Given the description of an element on the screen output the (x, y) to click on. 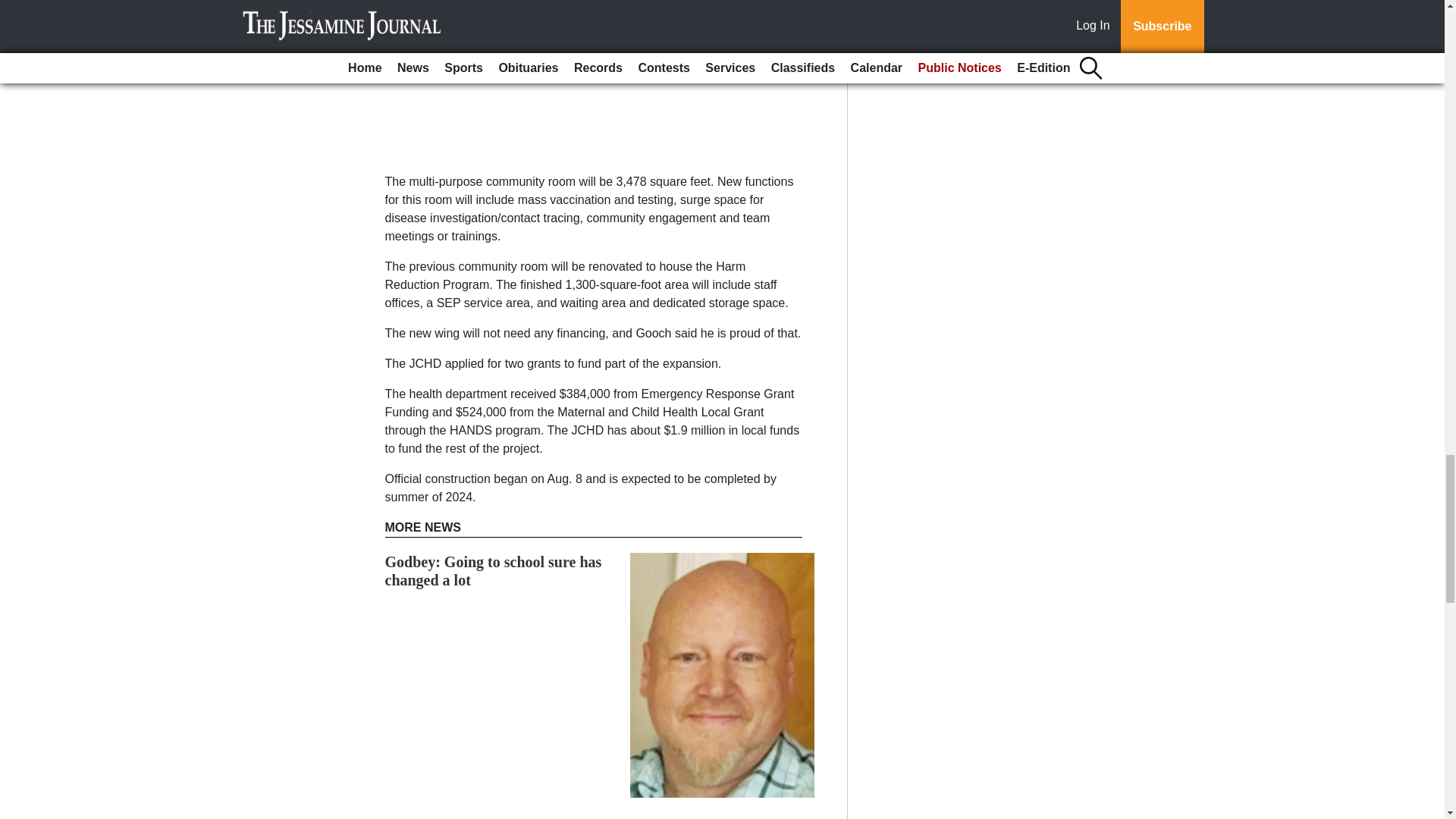
Godbey: Going to school sure has changed a lot (493, 570)
Godbey: Going to school sure has changed a lot (493, 570)
